Given the description of an element on the screen output the (x, y) to click on. 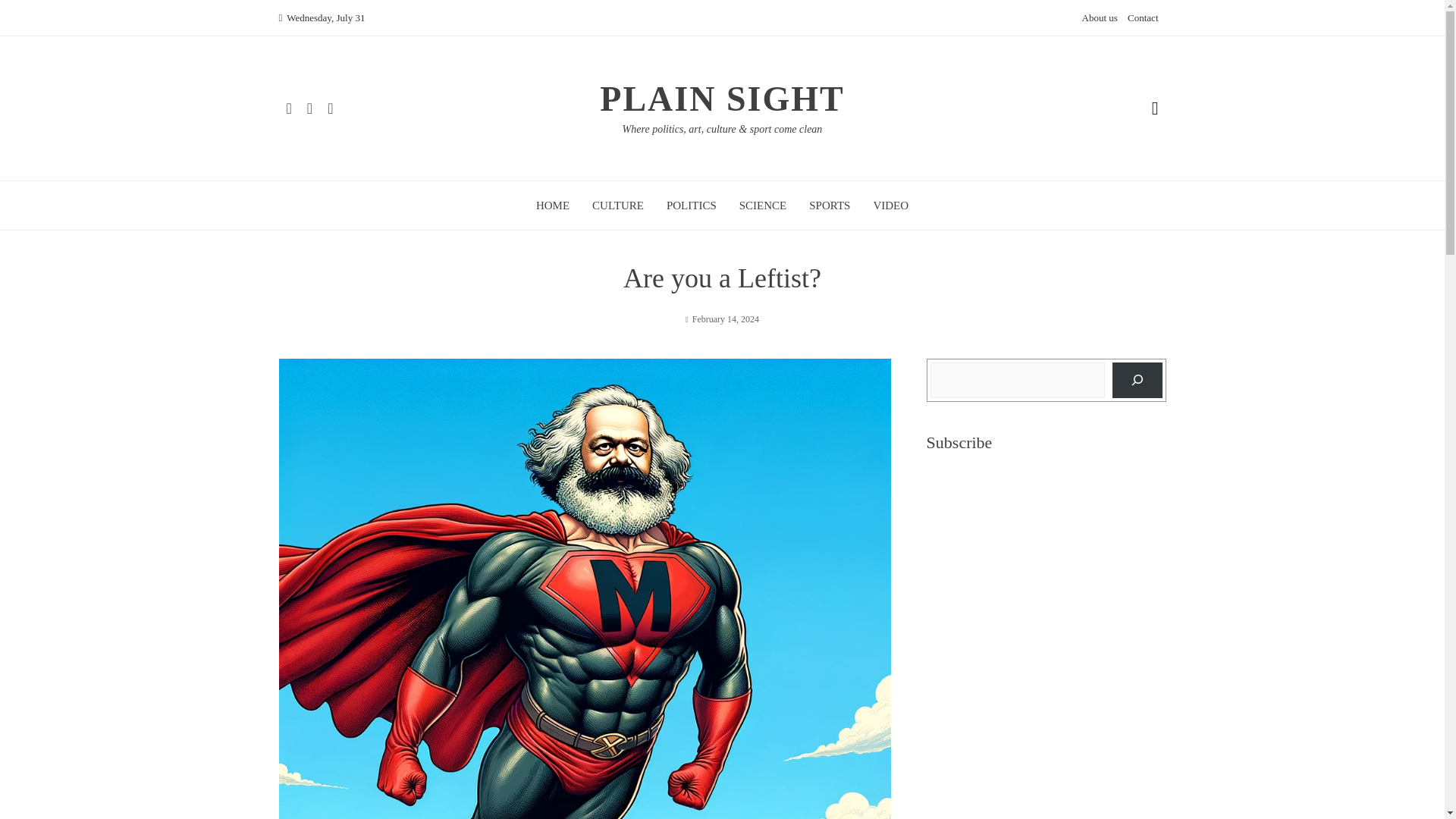
PLAIN SIGHT (721, 98)
Contact (1141, 17)
POLITICS (691, 205)
HOME (552, 205)
CULTURE (617, 205)
About us (1098, 17)
SCIENCE (763, 205)
VIDEO (890, 205)
SPORTS (829, 205)
